Given the description of an element on the screen output the (x, y) to click on. 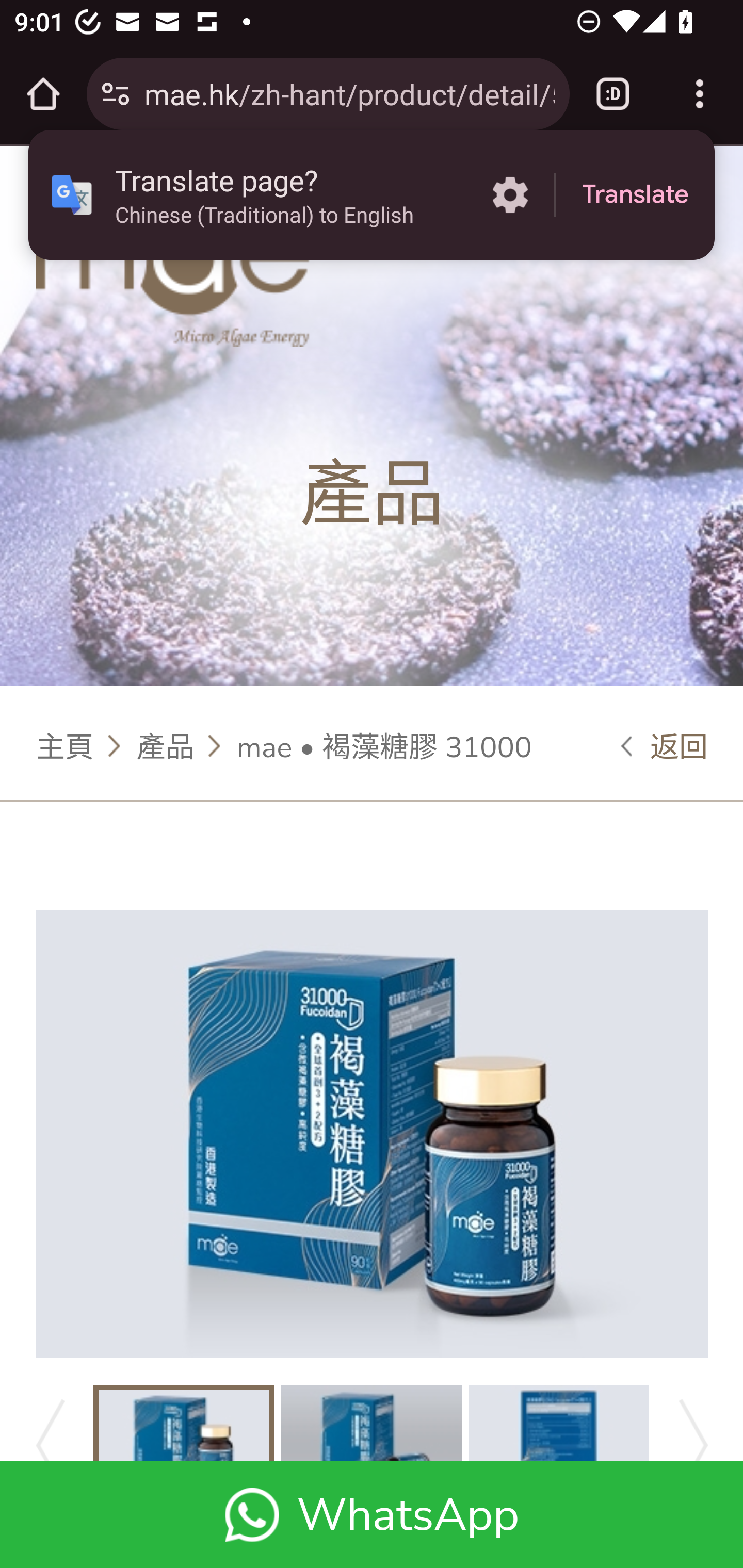
Open the home page (43, 93)
Connection is secure (115, 93)
Switch or close tabs (612, 93)
Customize and control Google Chrome (699, 93)
Translate (634, 195)
More options in the Translate page? (509, 195)
主頁 (65, 745)
產品 (164, 745)
返回 (665, 745)
WhatsApp (371, 1513)
